Given the description of an element on the screen output the (x, y) to click on. 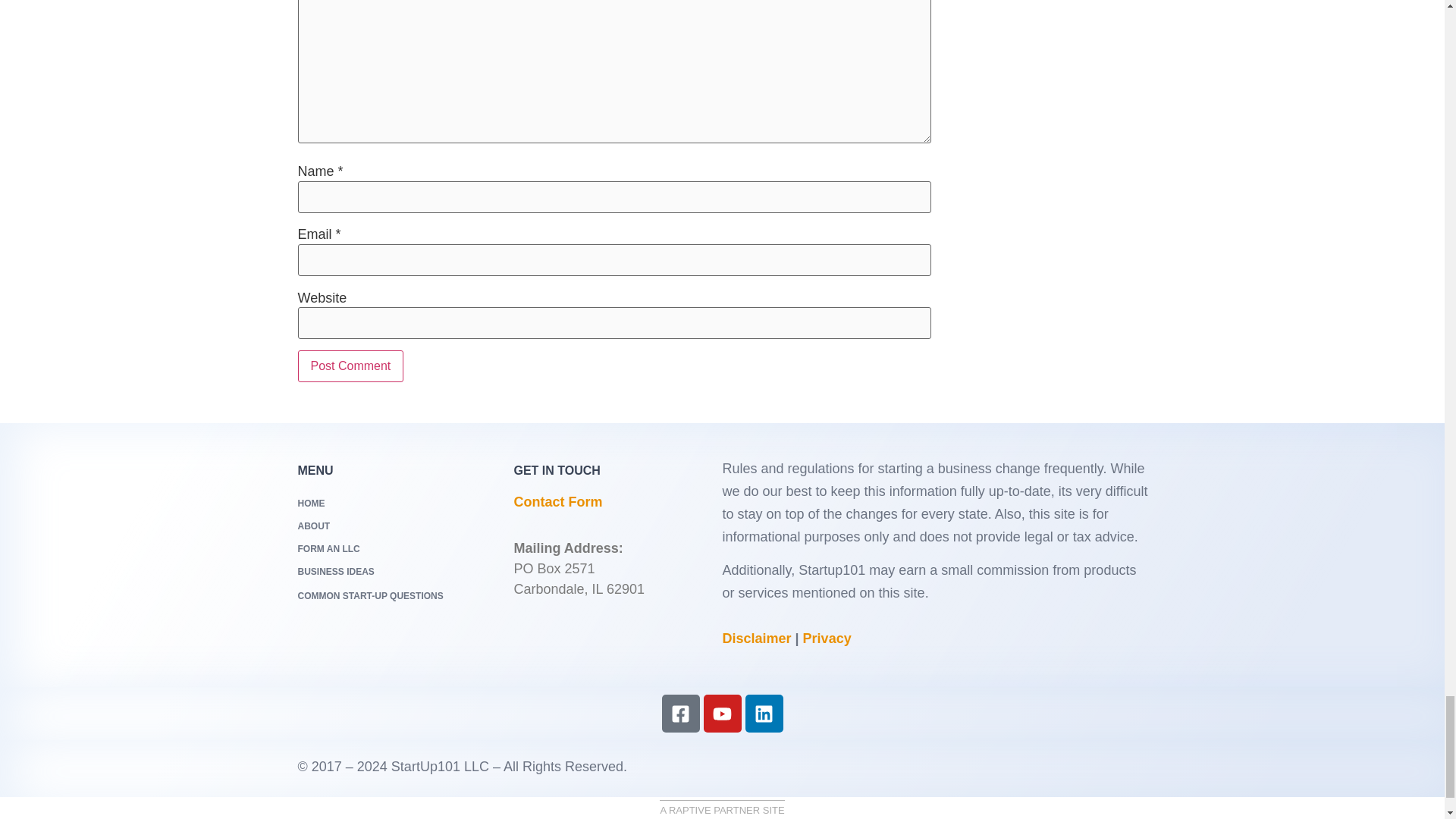
Post Comment (350, 366)
